Given the description of an element on the screen output the (x, y) to click on. 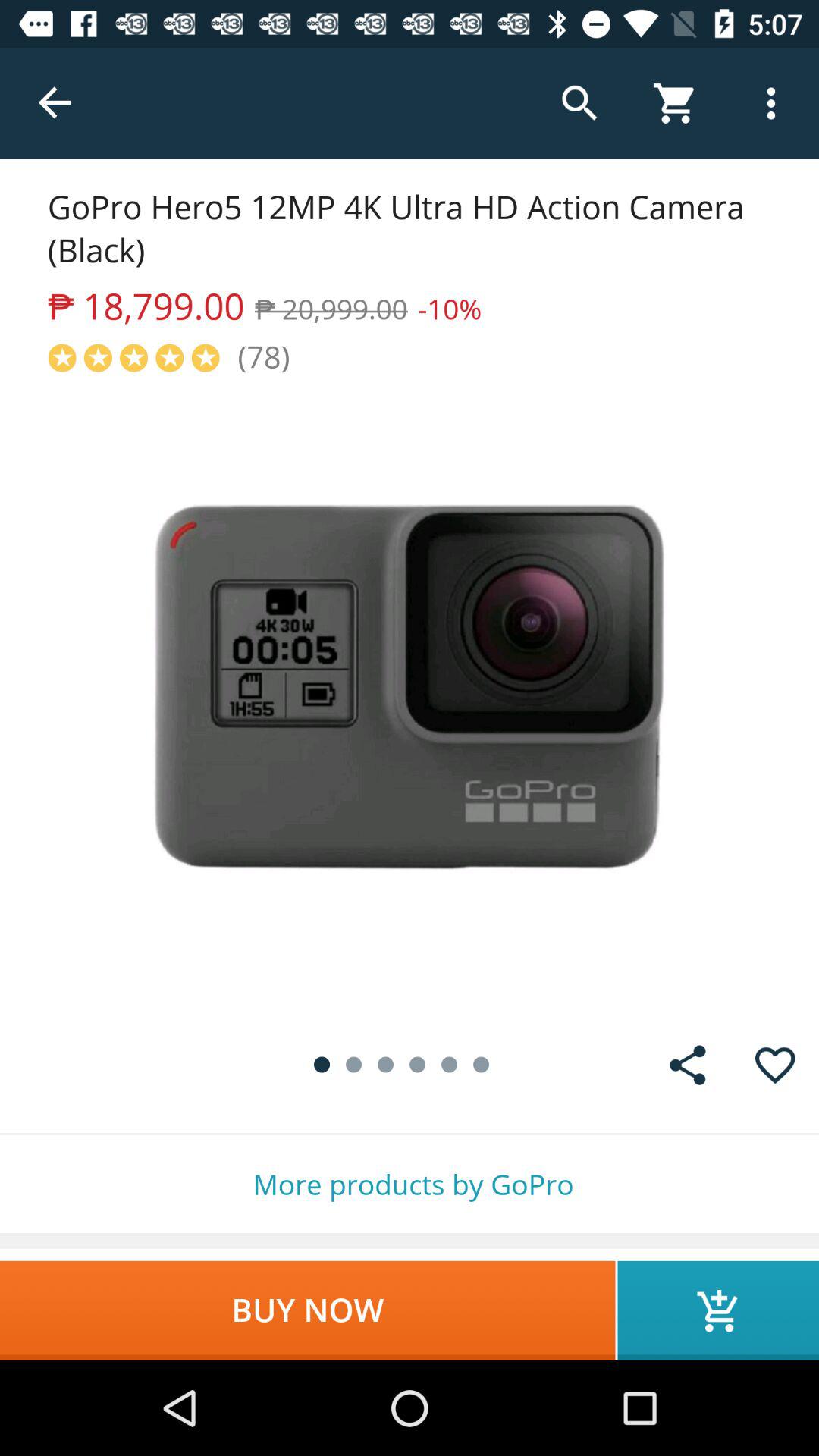
select the buy now (307, 1310)
